Given the description of an element on the screen output the (x, y) to click on. 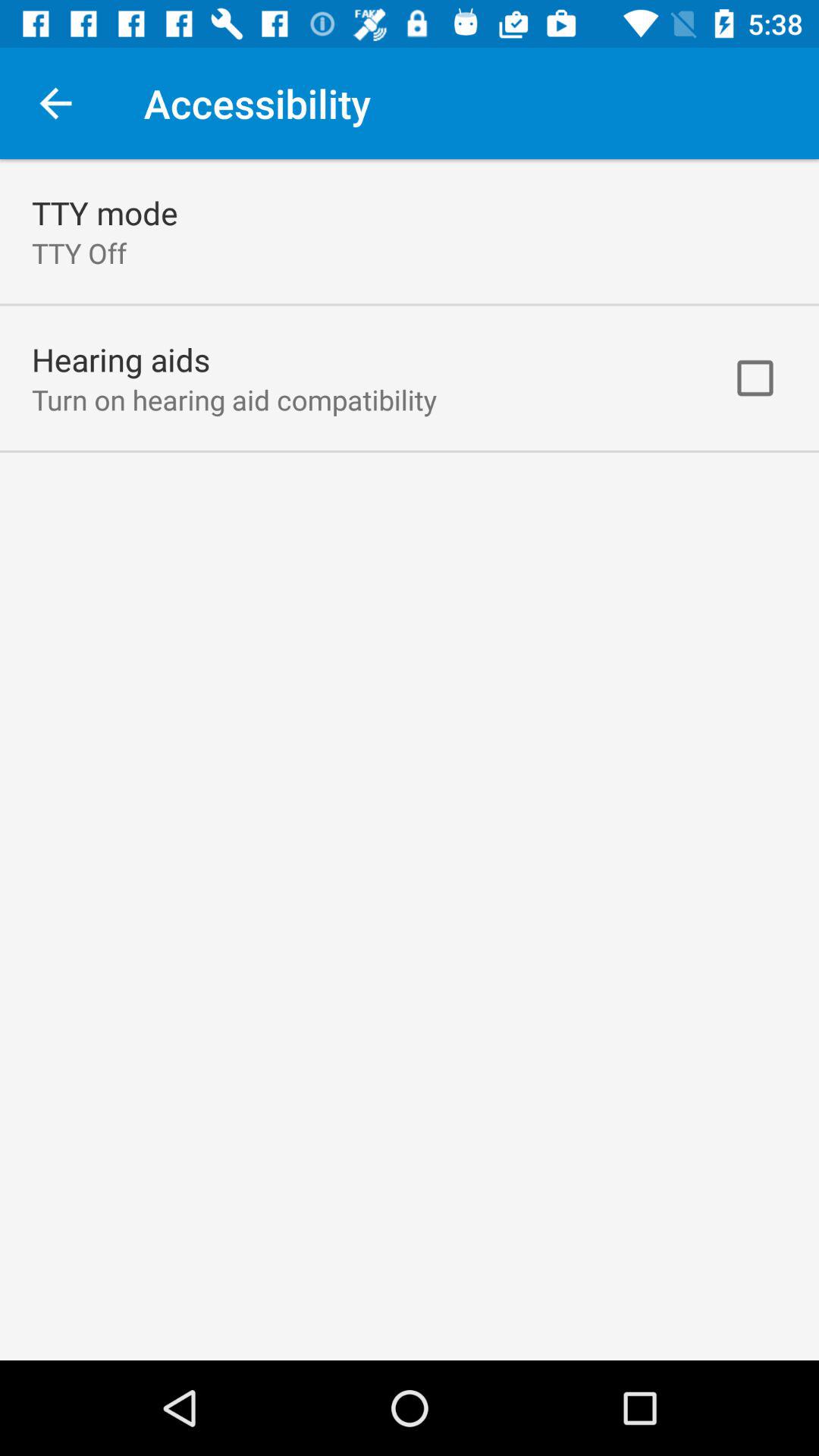
turn on tty mode (104, 212)
